Given the description of an element on the screen output the (x, y) to click on. 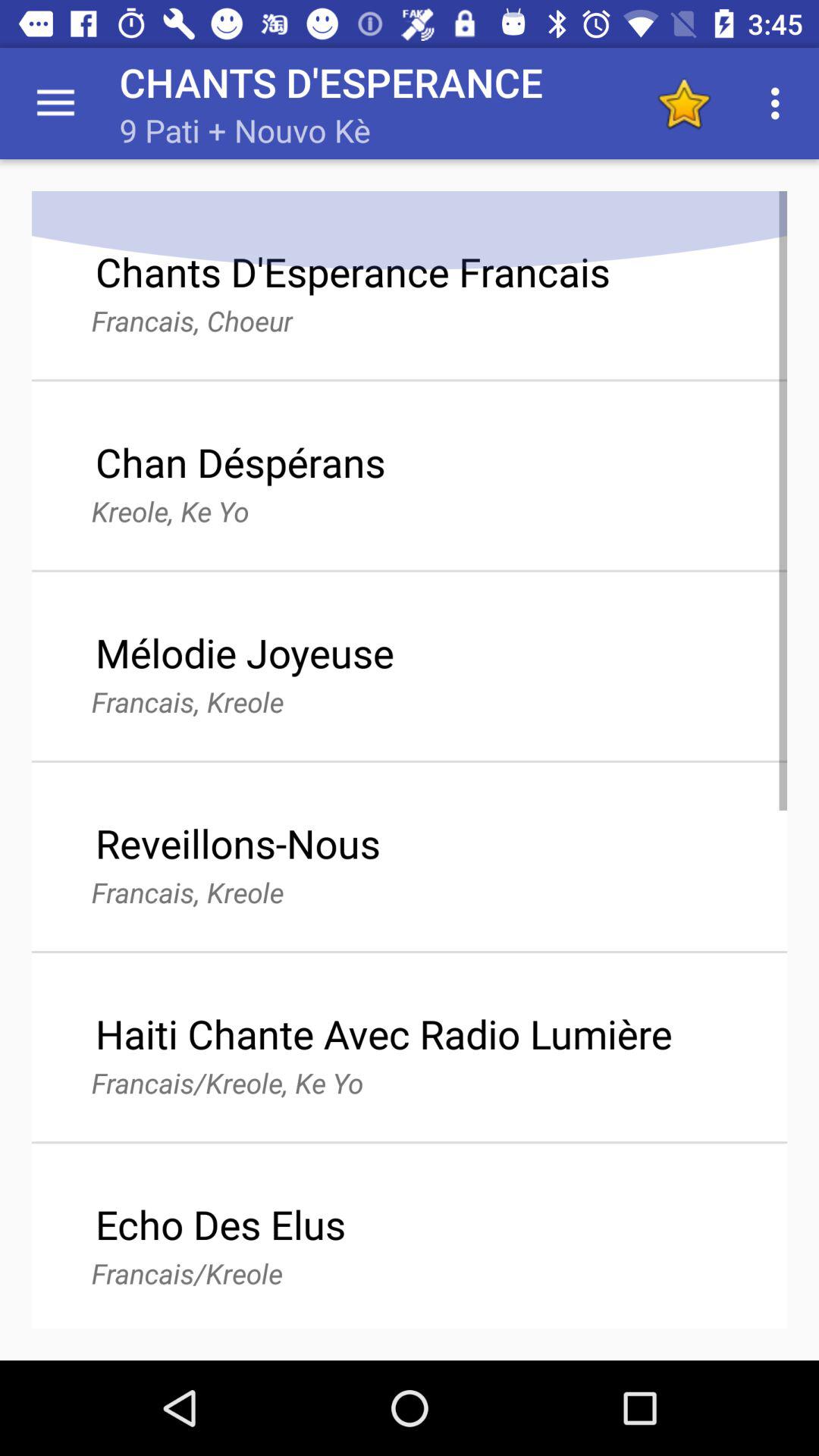
scroll to the haiti chante avec item (383, 1033)
